Given the description of an element on the screen output the (x, y) to click on. 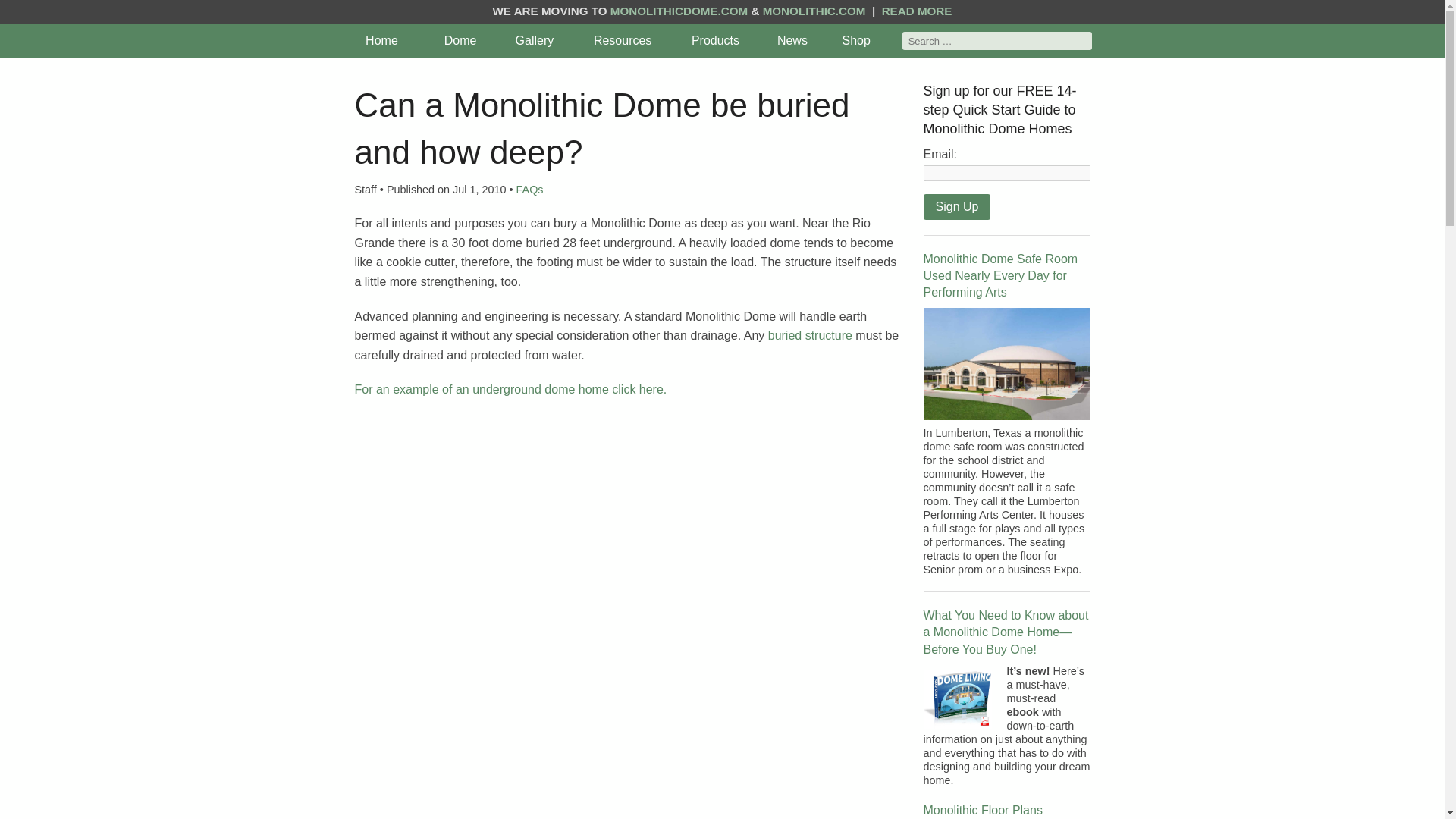
MONOLITHICDOME.COM (679, 10)
READ MORE (917, 10)
July 1, 2010 at 3:00am CST (471, 189)
MONOLITHIC.COM (814, 10)
